Given the description of an element on the screen output the (x, y) to click on. 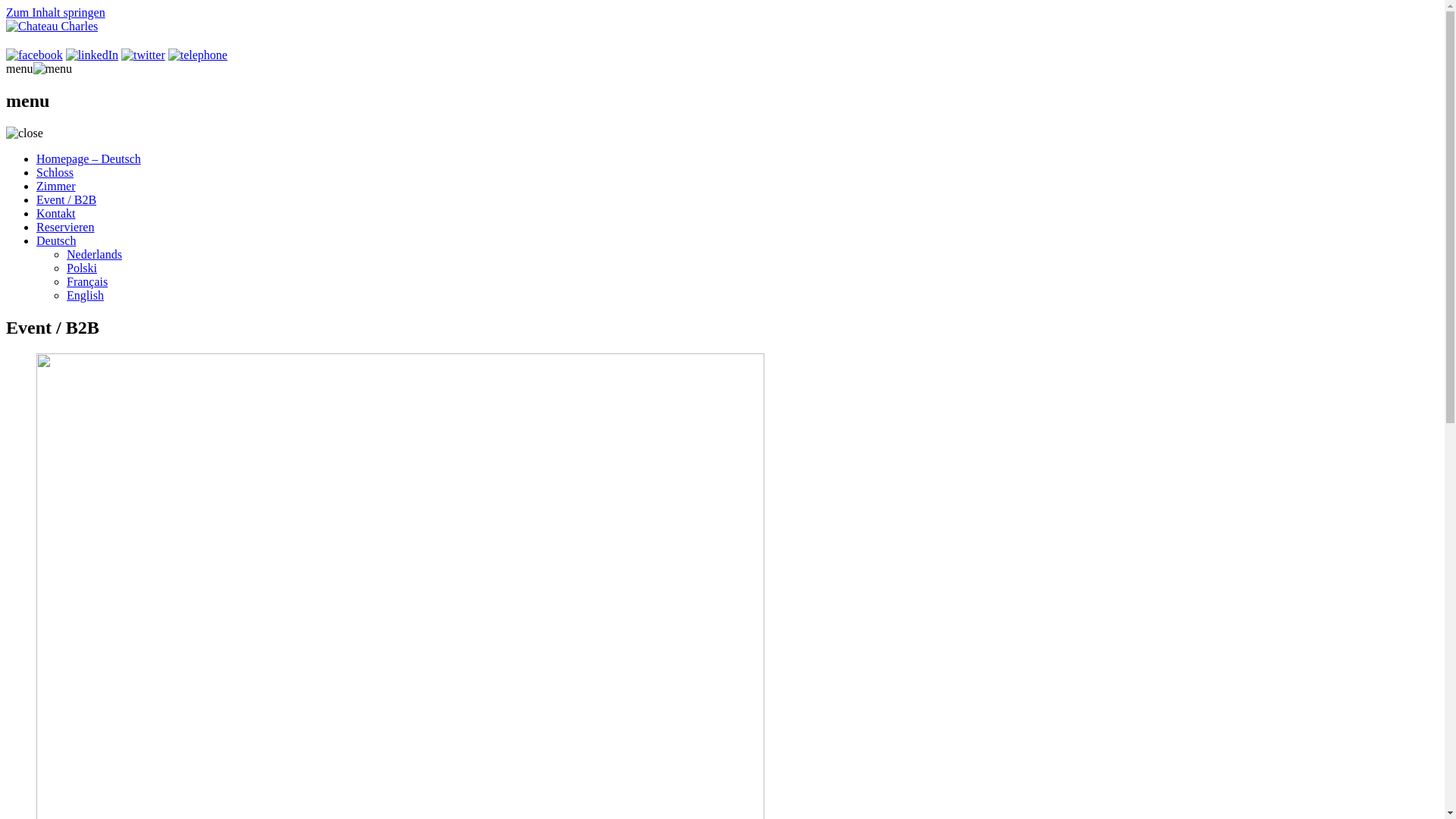
Nederlands Element type: text (94, 253)
Polski Element type: text (81, 267)
Zimmer Element type: text (55, 185)
Call us Element type: hover (197, 54)
Kontakt Element type: text (55, 213)
Reservieren Element type: text (65, 226)
Deutsch Element type: text (55, 240)
Zum Inhalt springen Element type: text (55, 12)
Schloss Element type: text (54, 172)
English Element type: text (84, 294)
Facebook Element type: hover (34, 54)
LinkedIn Element type: hover (91, 54)
Event / B2B Element type: text (66, 199)
Twitter Element type: hover (143, 54)
